Given the description of an element on the screen output the (x, y) to click on. 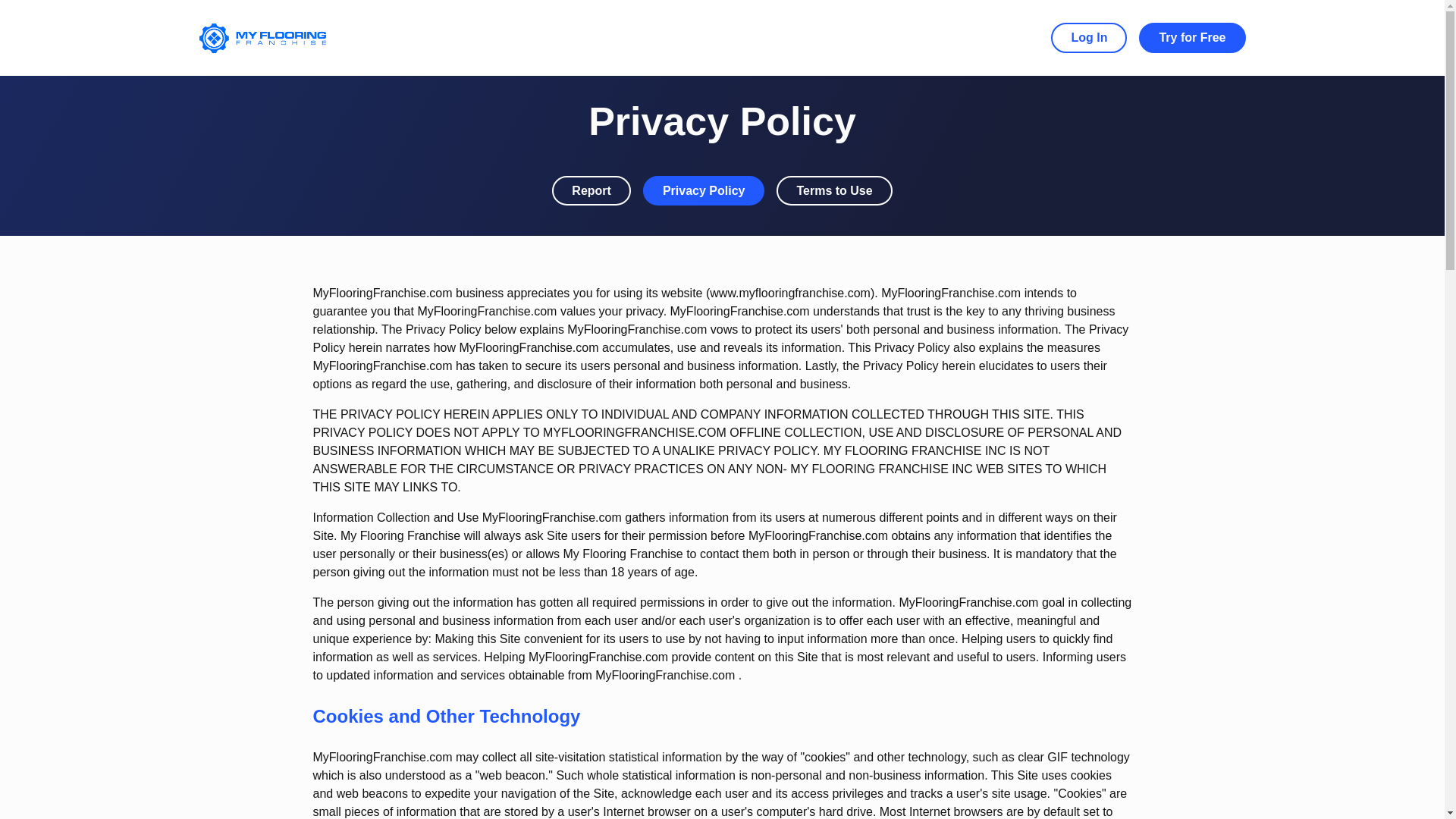
Try for Free (1191, 37)
Privacy Policy (704, 190)
Log In (1088, 37)
Report (590, 190)
Terms to Use (833, 190)
